Given the description of an element on the screen output the (x, y) to click on. 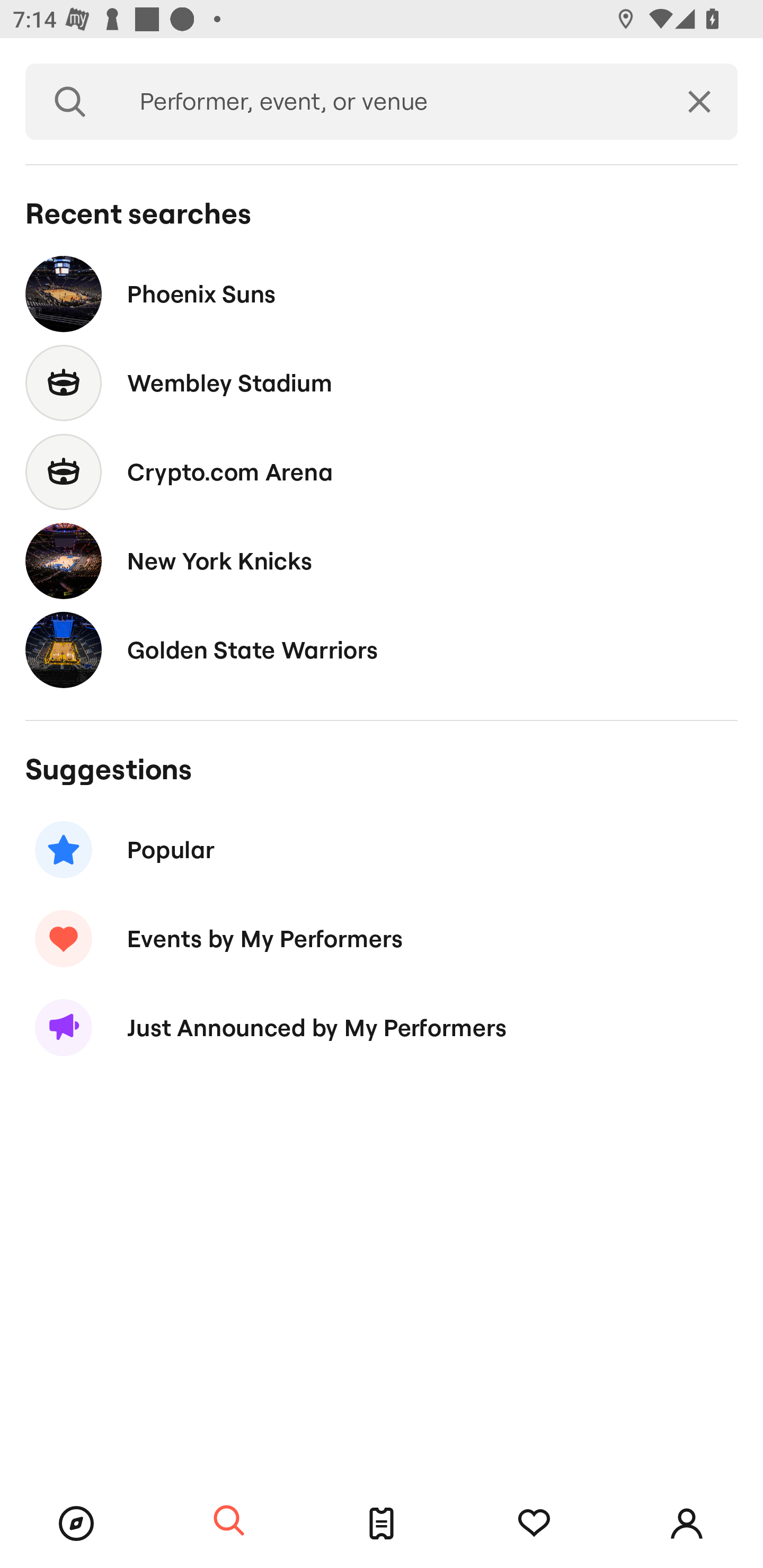
Search (69, 101)
Performer, event, or venue (387, 101)
Clear (699, 101)
Phoenix Suns (381, 293)
Wembley Stadium (381, 383)
Crypto.com Arena (381, 471)
New York Knicks (381, 560)
Golden State Warriors (381, 649)
Popular (381, 849)
Events by My Performers (381, 938)
Just Announced by My Performers (381, 1027)
Browse (76, 1523)
Search (228, 1521)
Tickets (381, 1523)
Tracking (533, 1523)
Account (686, 1523)
